Given the description of an element on the screen output the (x, y) to click on. 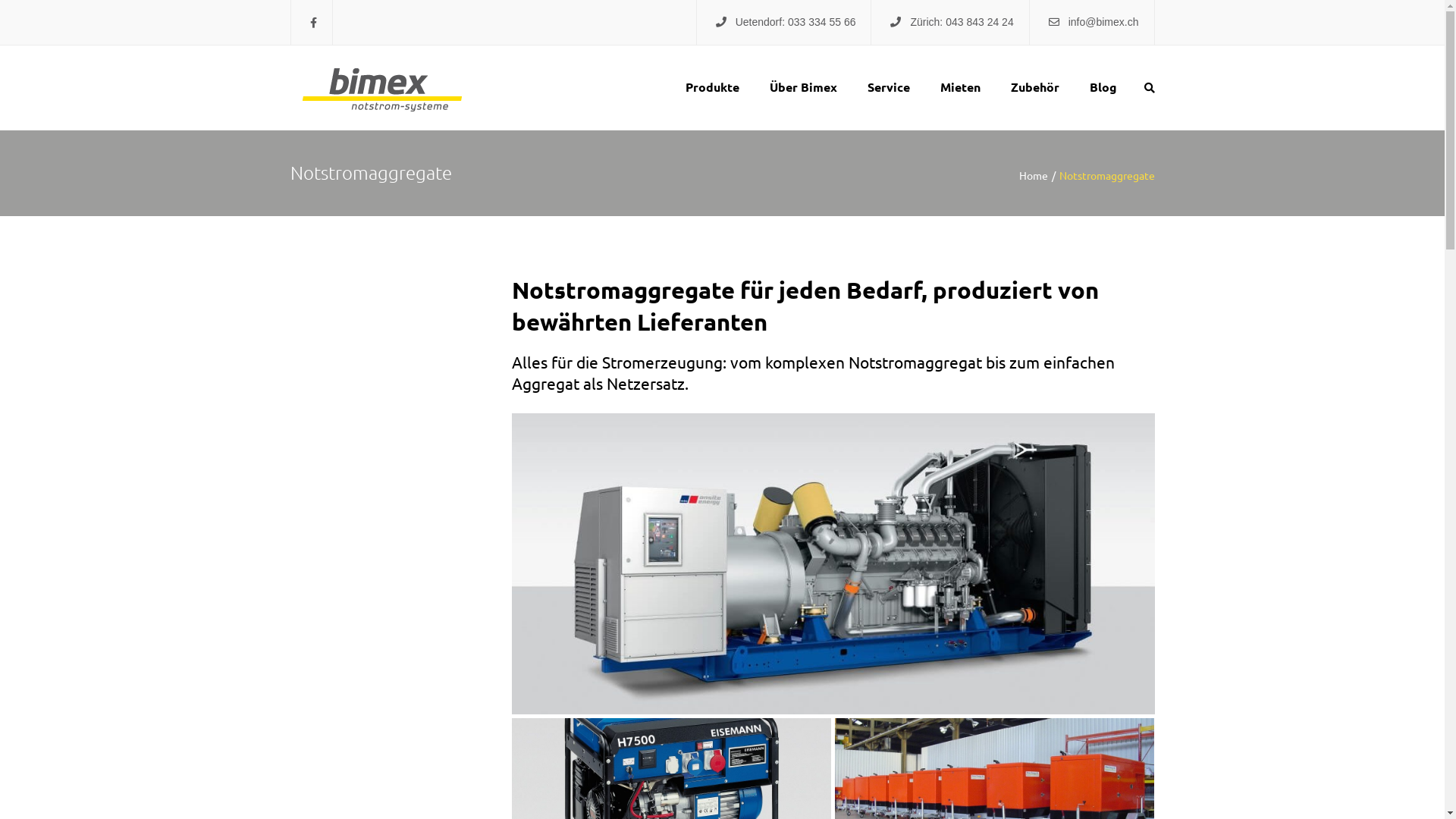
Uetendorf: 033 334 55 66 Element type: text (795, 21)
Blog Element type: text (1102, 86)
Aggregat von MTU Element type: hover (832, 563)
info@bimex.ch Element type: text (1103, 21)
Home Element type: text (1039, 175)
Mieten Element type: text (960, 86)
Service Element type: text (888, 86)
Suche Element type: text (1148, 87)
Produkte Element type: text (711, 86)
